Given the description of an element on the screen output the (x, y) to click on. 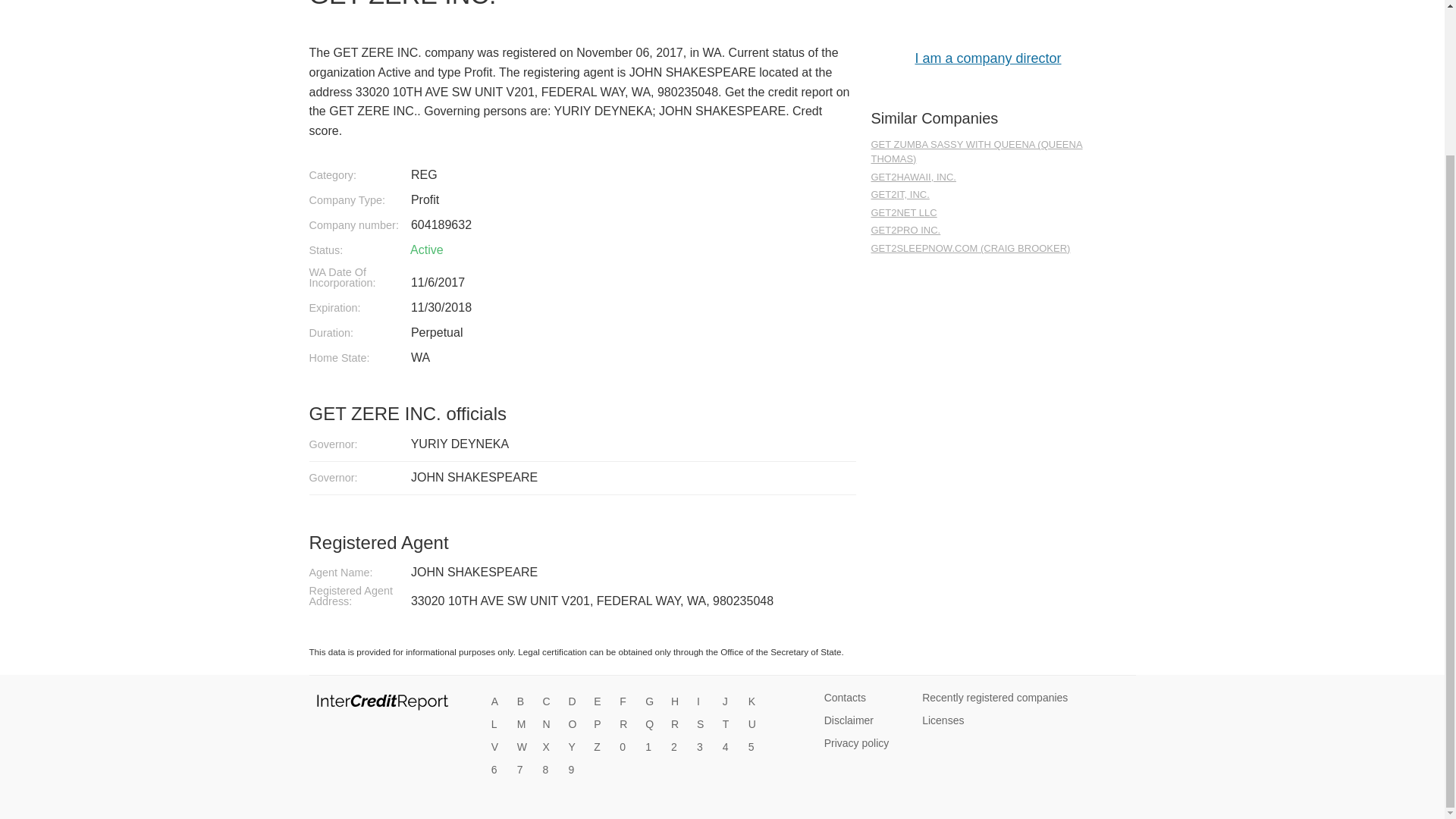
B (524, 702)
R (627, 724)
T (730, 724)
H (678, 702)
GET2HAWAII, INC. (987, 177)
P (601, 724)
X (550, 747)
R (678, 724)
L (499, 724)
U (755, 724)
GET2PRO INC. (987, 230)
O (575, 724)
I am a company director (986, 57)
S (704, 724)
GET2NET LLC (987, 213)
